Given the description of an element on the screen output the (x, y) to click on. 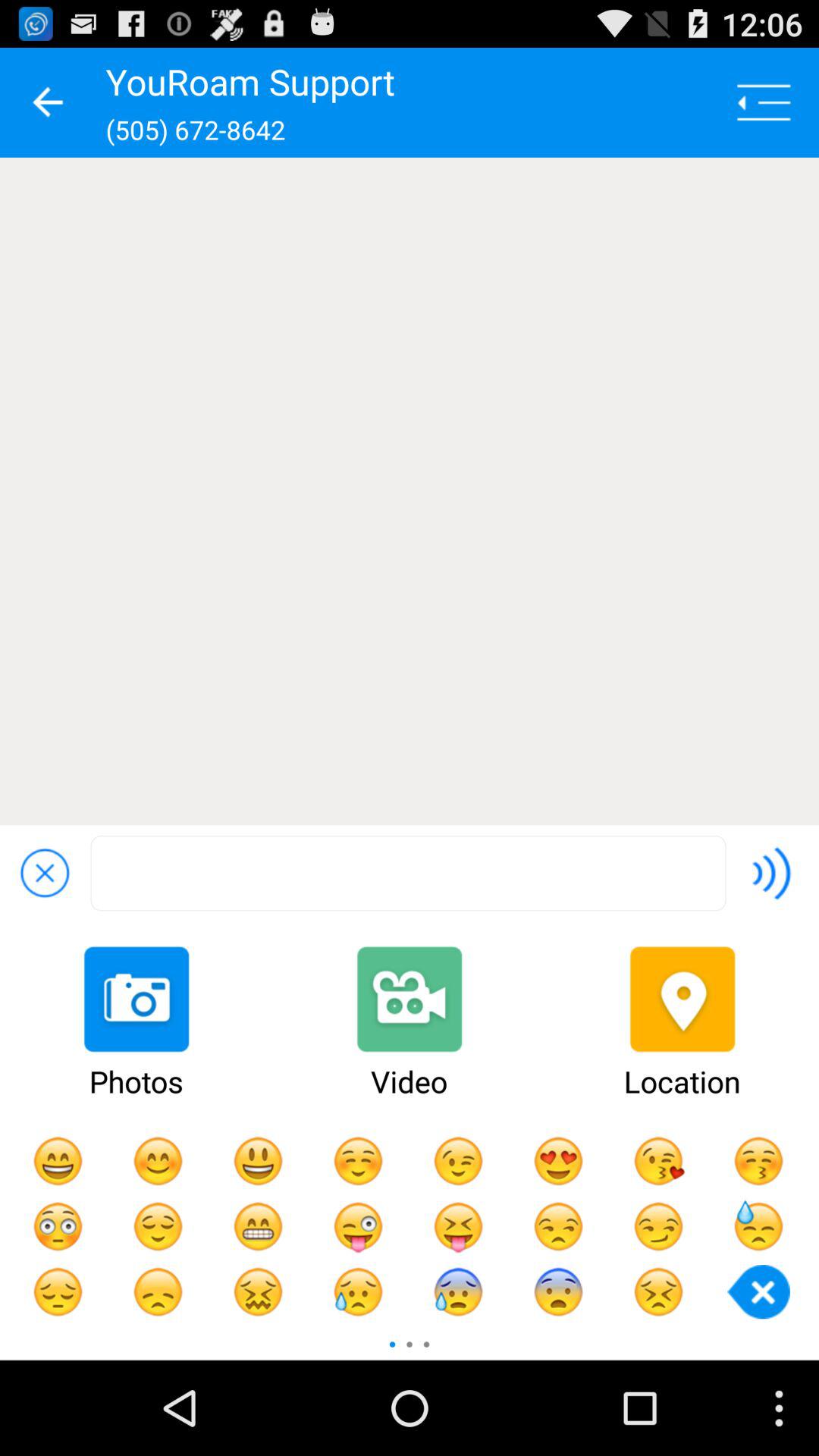
choose the item below (505) 672-8642 item (409, 491)
